Given the description of an element on the screen output the (x, y) to click on. 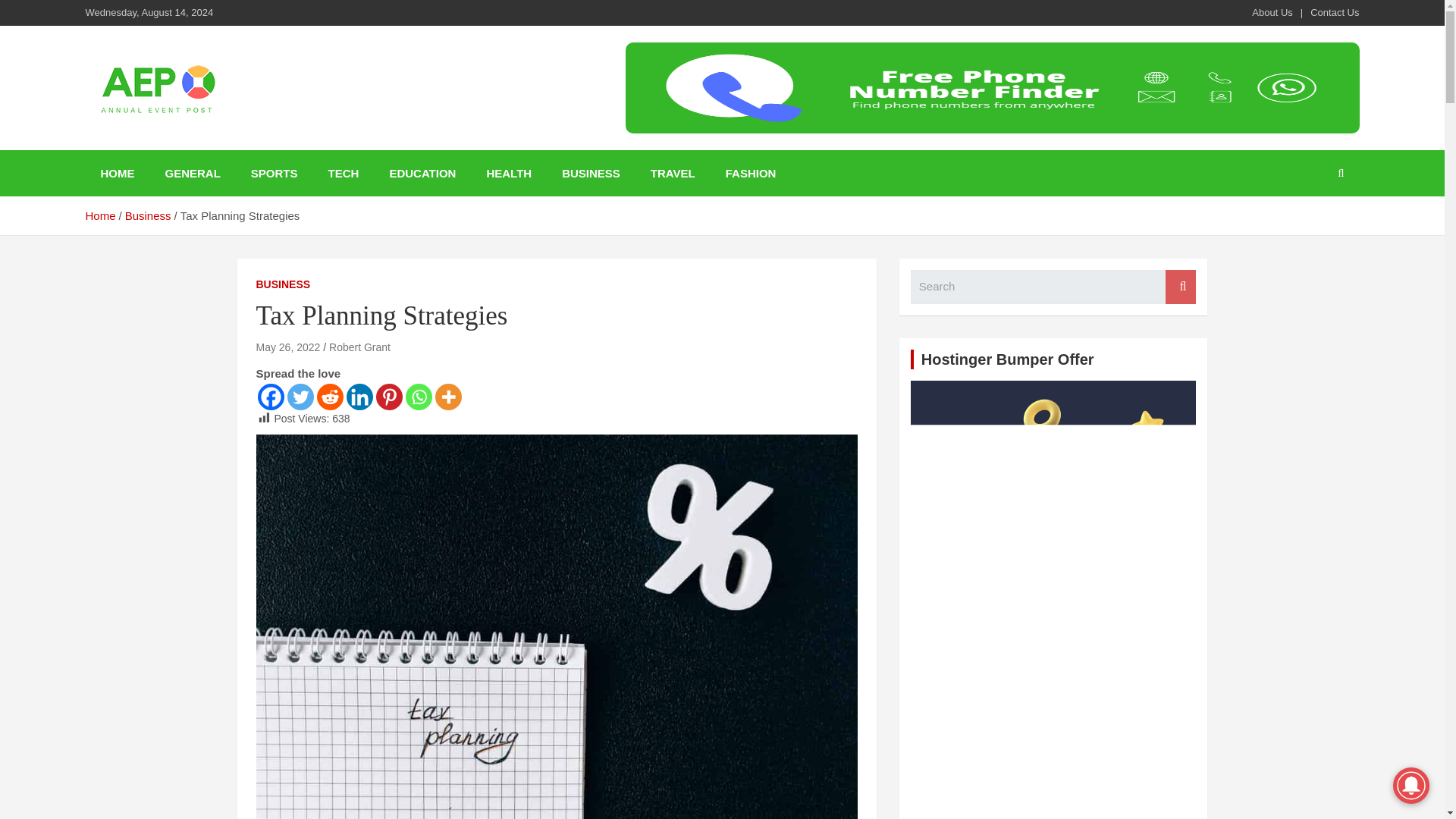
Twitter (299, 397)
Facebook (270, 397)
BUSINESS (283, 284)
EDUCATION (422, 172)
BUSINESS (590, 172)
HEALTH (508, 172)
Whatsapp (417, 397)
Home (99, 215)
Reddit (330, 397)
Linkedin (359, 397)
